Given the description of an element on the screen output the (x, y) to click on. 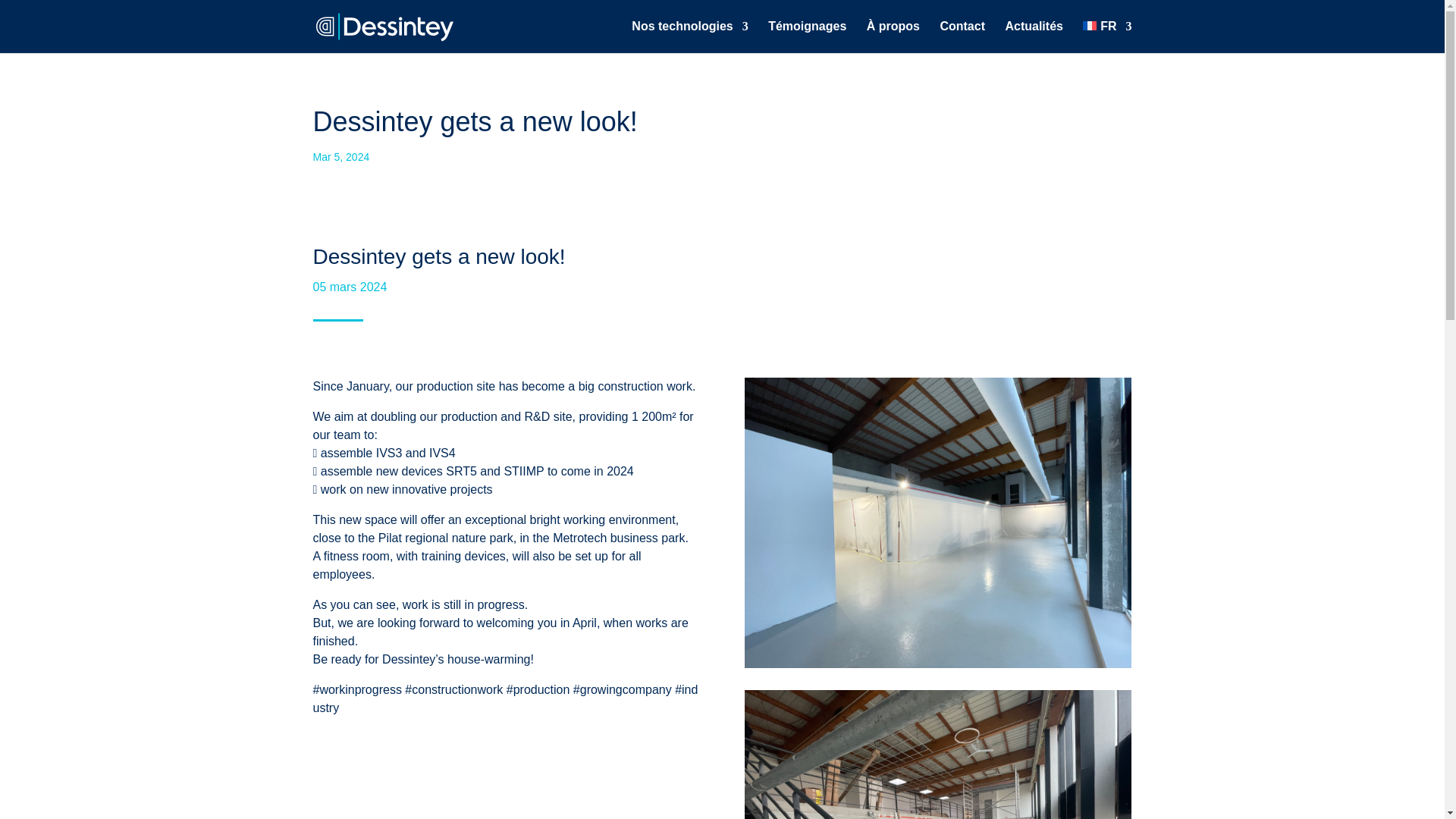
Contact (962, 37)
works at Dessintey company 2024 (937, 754)
FR (1107, 37)
Nos technologies (689, 37)
FR (1107, 37)
works at Dessintey company 2024 (937, 522)
